Given the description of an element on the screen output the (x, y) to click on. 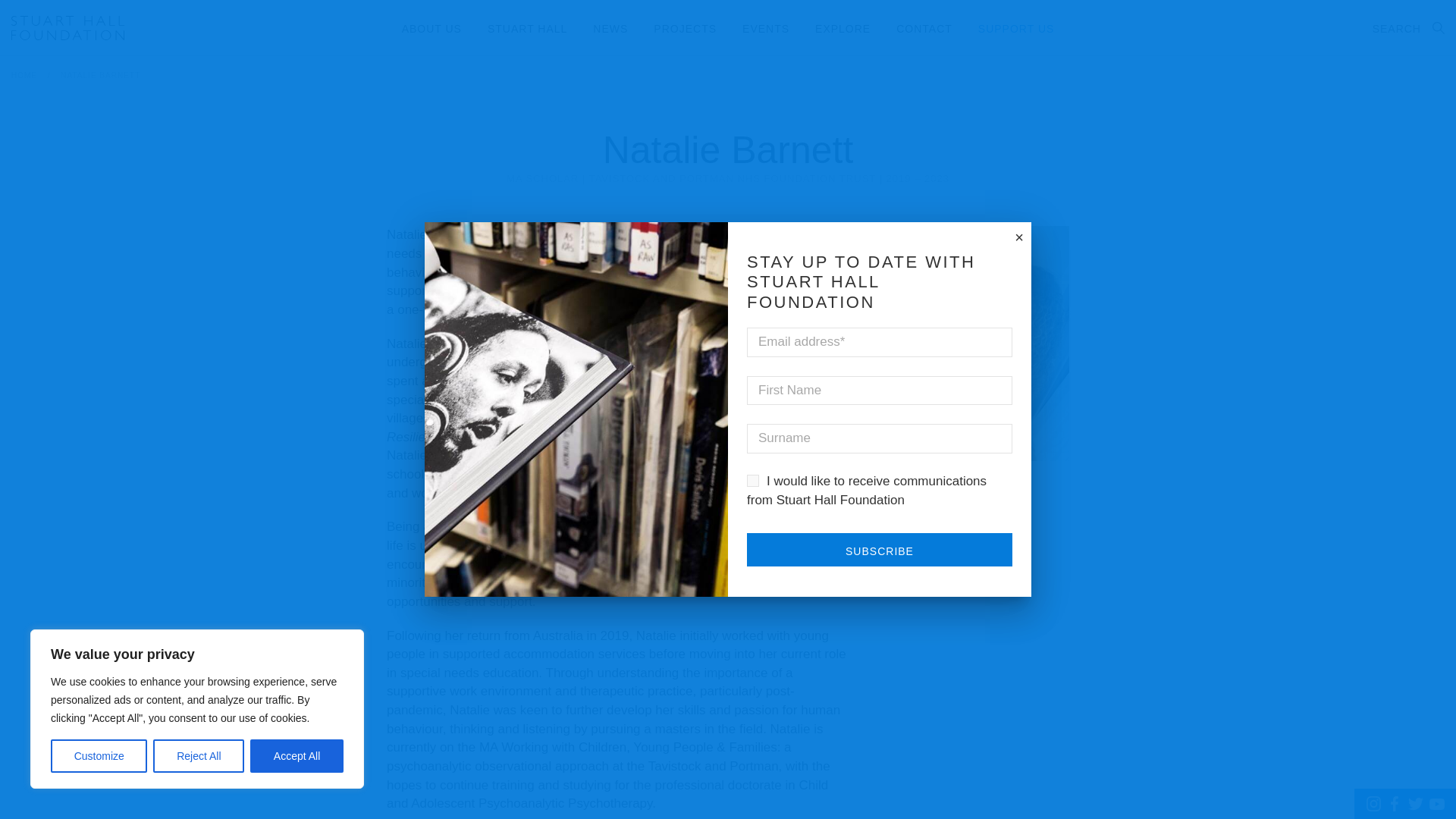
Reject All (198, 756)
Subscribe (878, 549)
Accept All (296, 756)
Customize (98, 756)
